Given the description of an element on the screen output the (x, y) to click on. 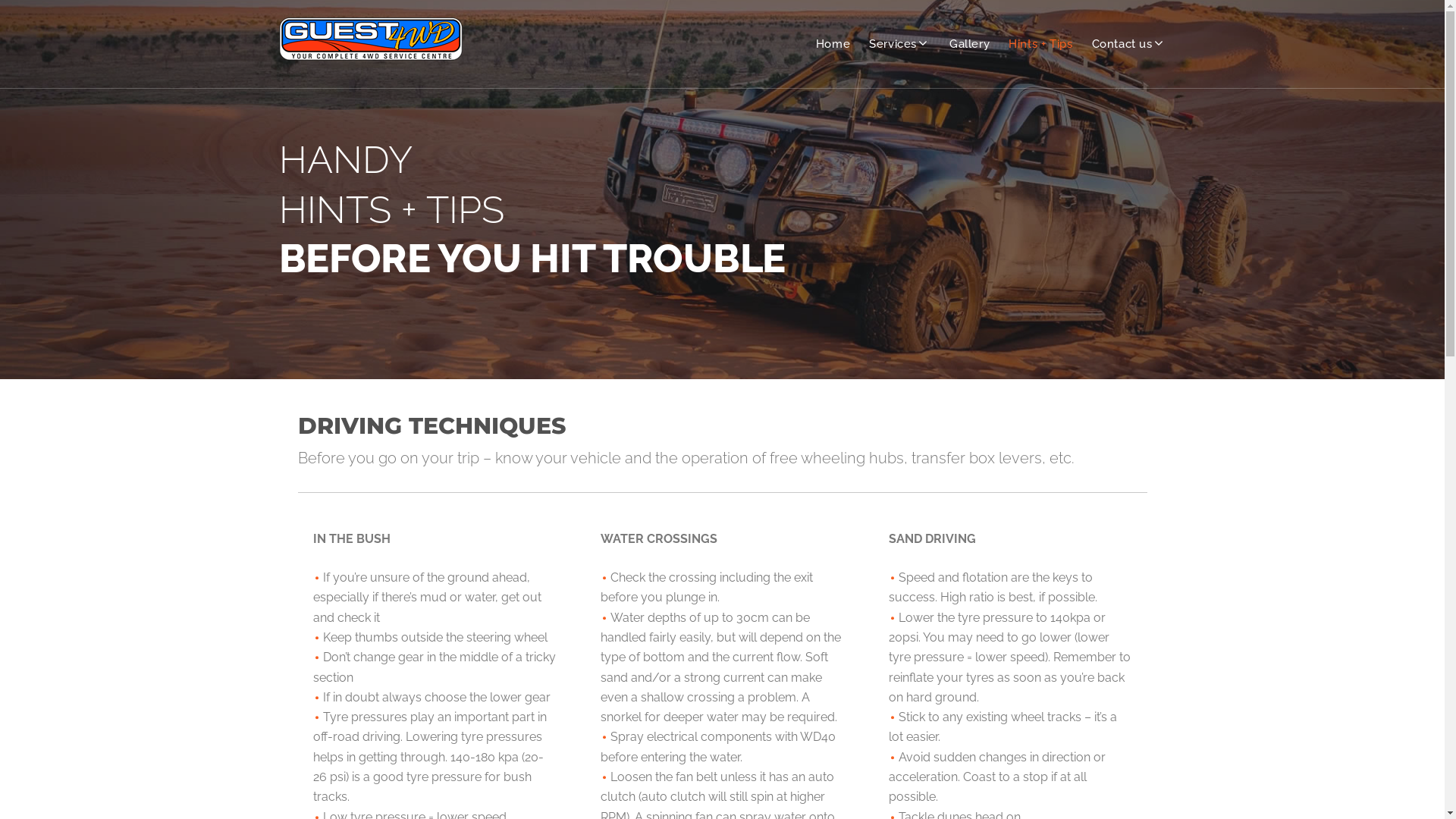
Hints + Tips Element type: text (1040, 44)
Services Element type: text (899, 44)
Contact us Element type: text (1129, 44)
Home Element type: text (832, 44)
Gallery Element type: text (969, 44)
